Given the description of an element on the screen output the (x, y) to click on. 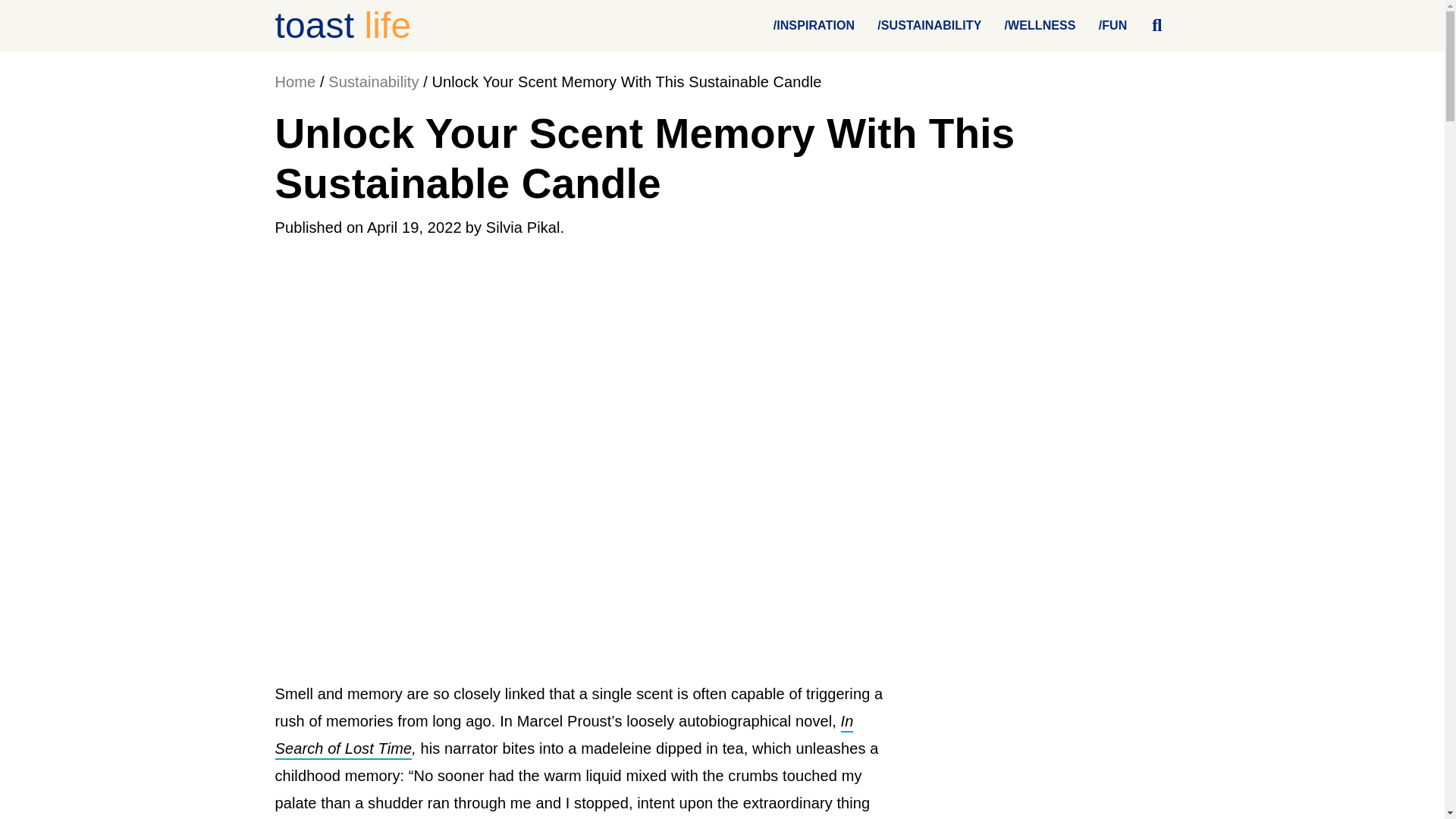
In Search of Lost Time (564, 736)
by Silvia Pikal. (514, 227)
toast life (342, 24)
Home (295, 81)
Sustainability (374, 81)
